Given the description of an element on the screen output the (x, y) to click on. 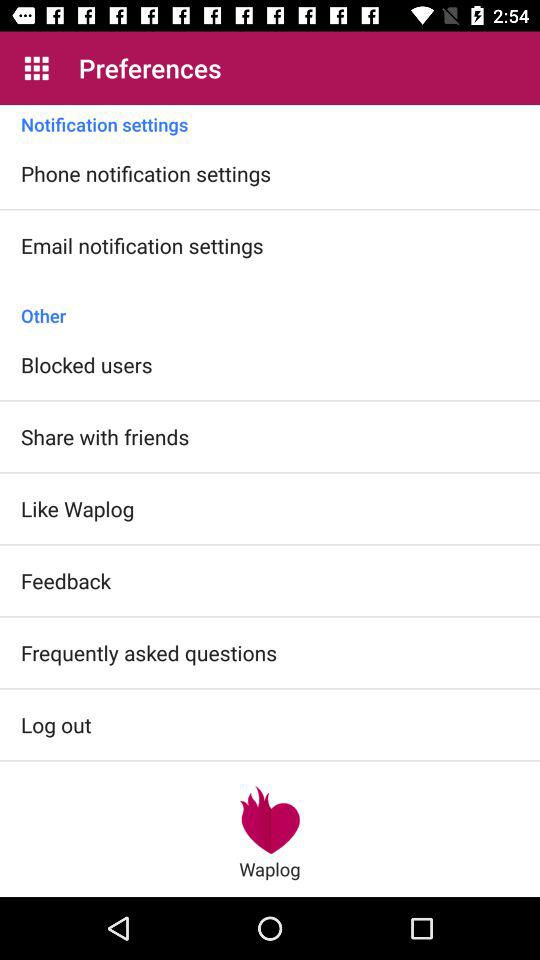
jump until the like waplog icon (77, 508)
